Given the description of an element on the screen output the (x, y) to click on. 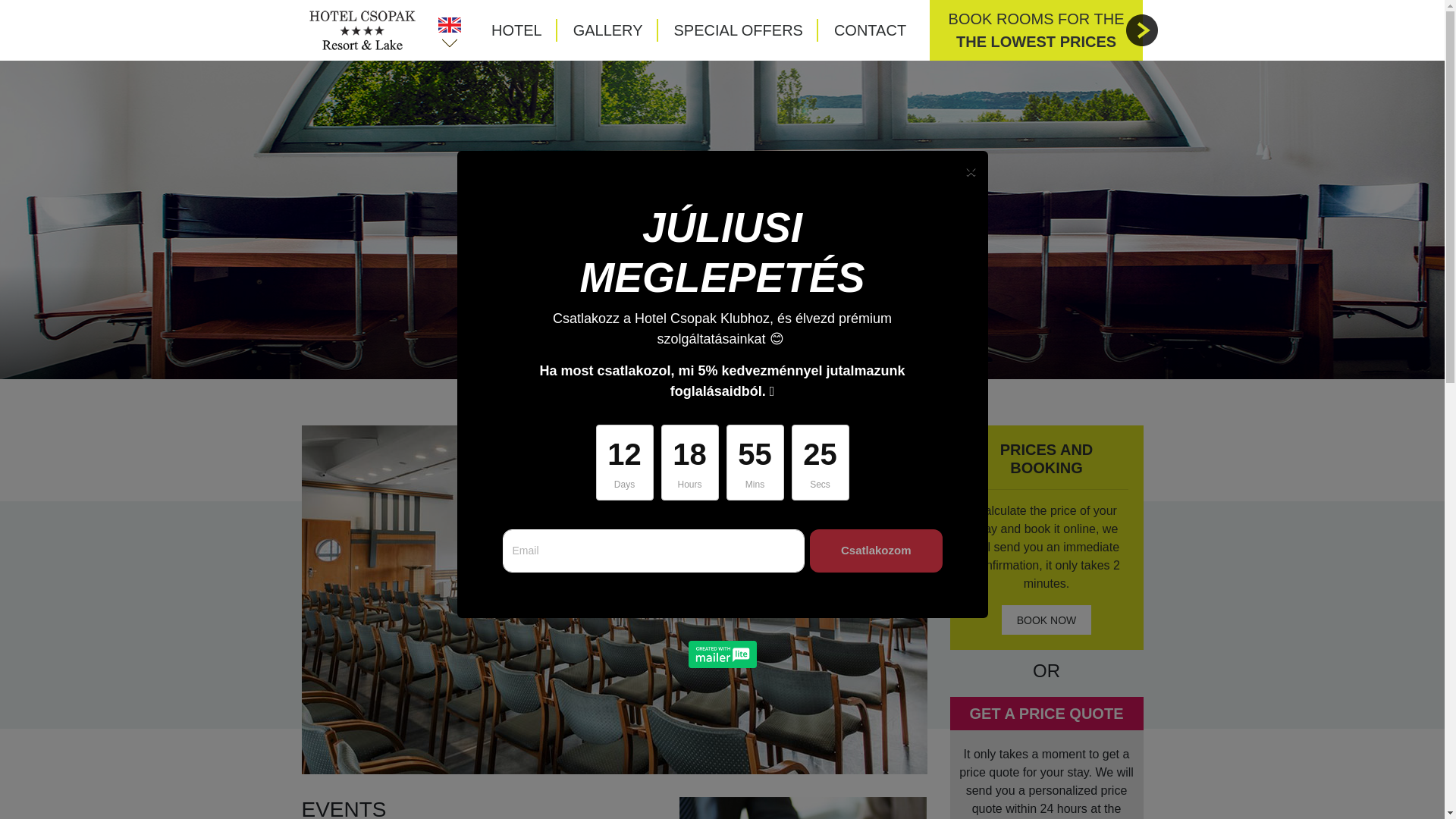
SPECIAL OFFERS (738, 30)
GALLERY (608, 30)
HOTEL (716, 401)
CONTACT (869, 30)
HOME (1036, 30)
HOTEL (637, 401)
